Given the description of an element on the screen output the (x, y) to click on. 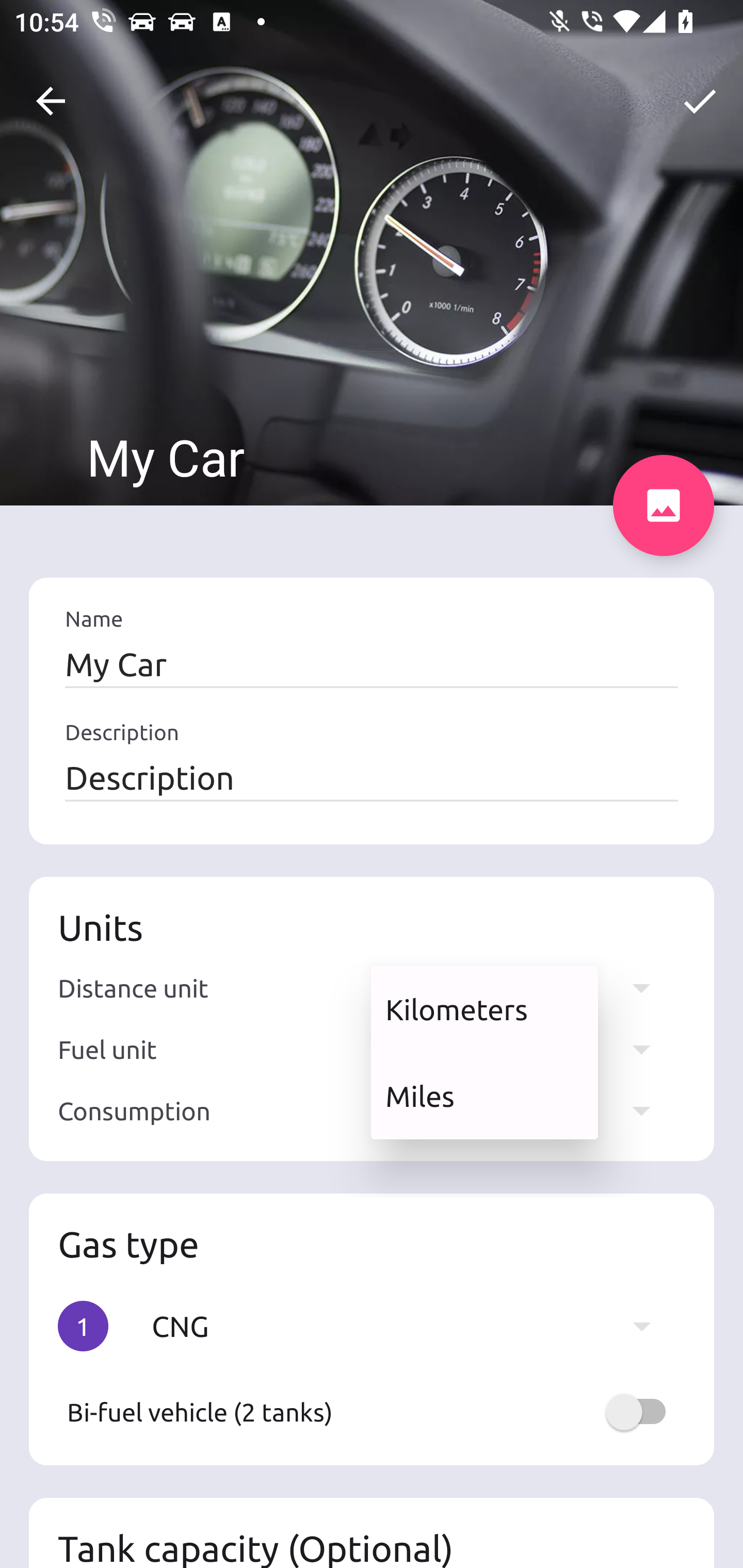
Kilometers (484, 1008)
Miles (484, 1095)
